Given the description of an element on the screen output the (x, y) to click on. 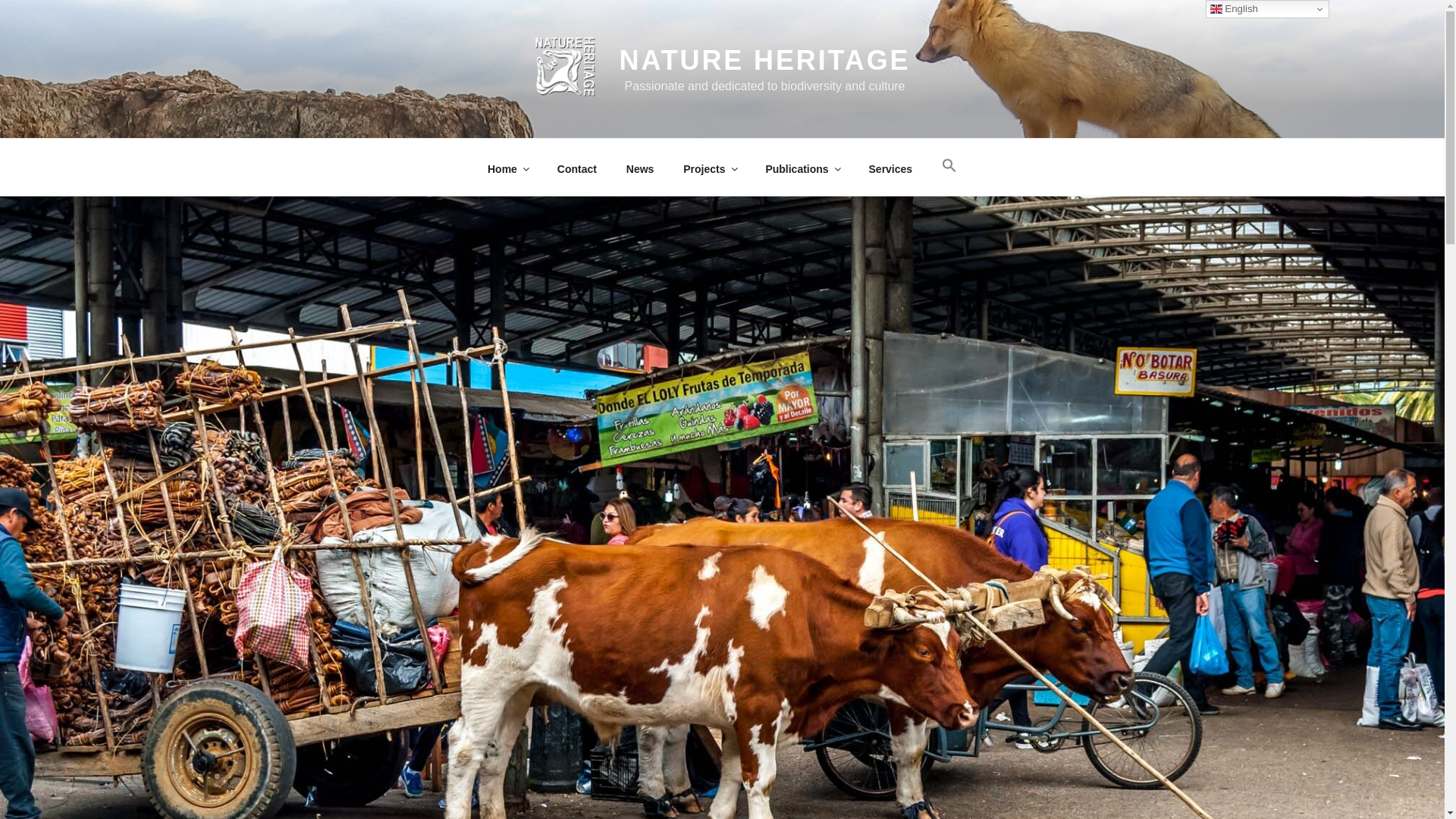
Home (507, 168)
NATURE HERITAGE (765, 60)
Projects (709, 168)
Contact (576, 168)
News (639, 168)
